Given the description of an element on the screen output the (x, y) to click on. 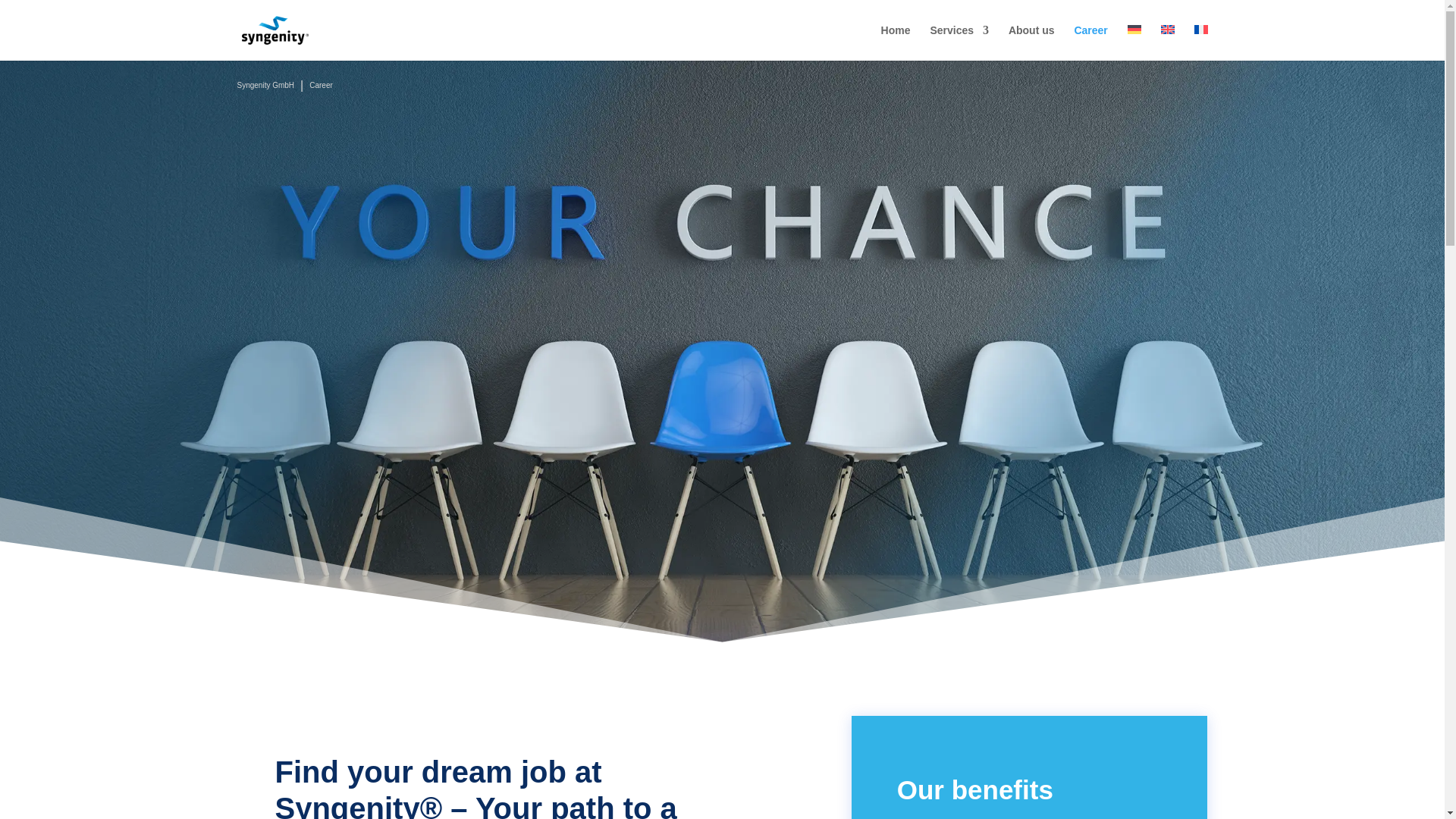
Services (959, 42)
About us (1031, 42)
Career (1090, 42)
Syngenity GmbH (264, 85)
